Given the description of an element on the screen output the (x, y) to click on. 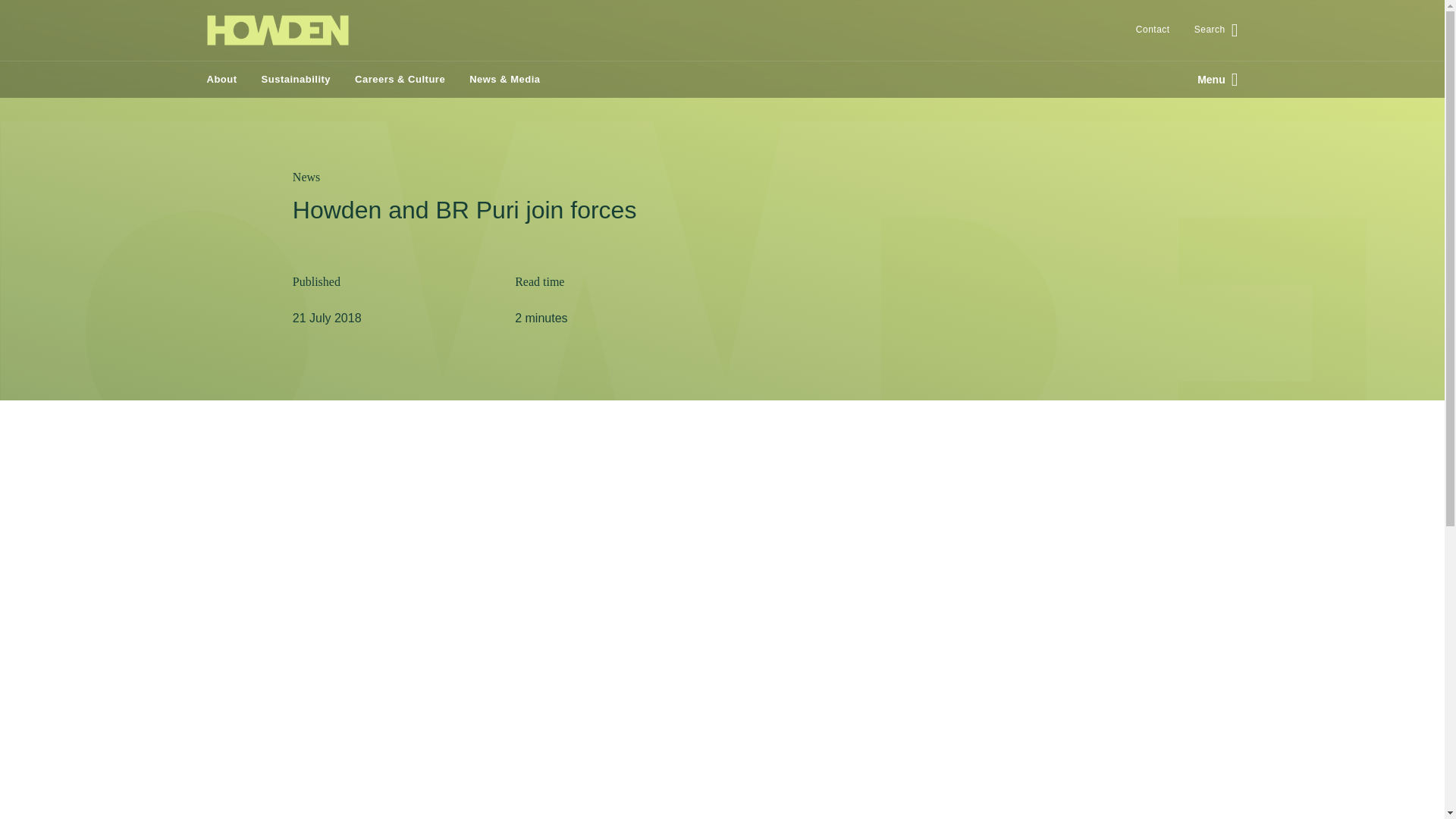
Menu (1211, 79)
Contact (1153, 30)
About (227, 79)
Search (1127, 173)
Howden Broking Group (276, 30)
Sustainability (295, 79)
Search (1210, 30)
